Given the description of an element on the screen output the (x, y) to click on. 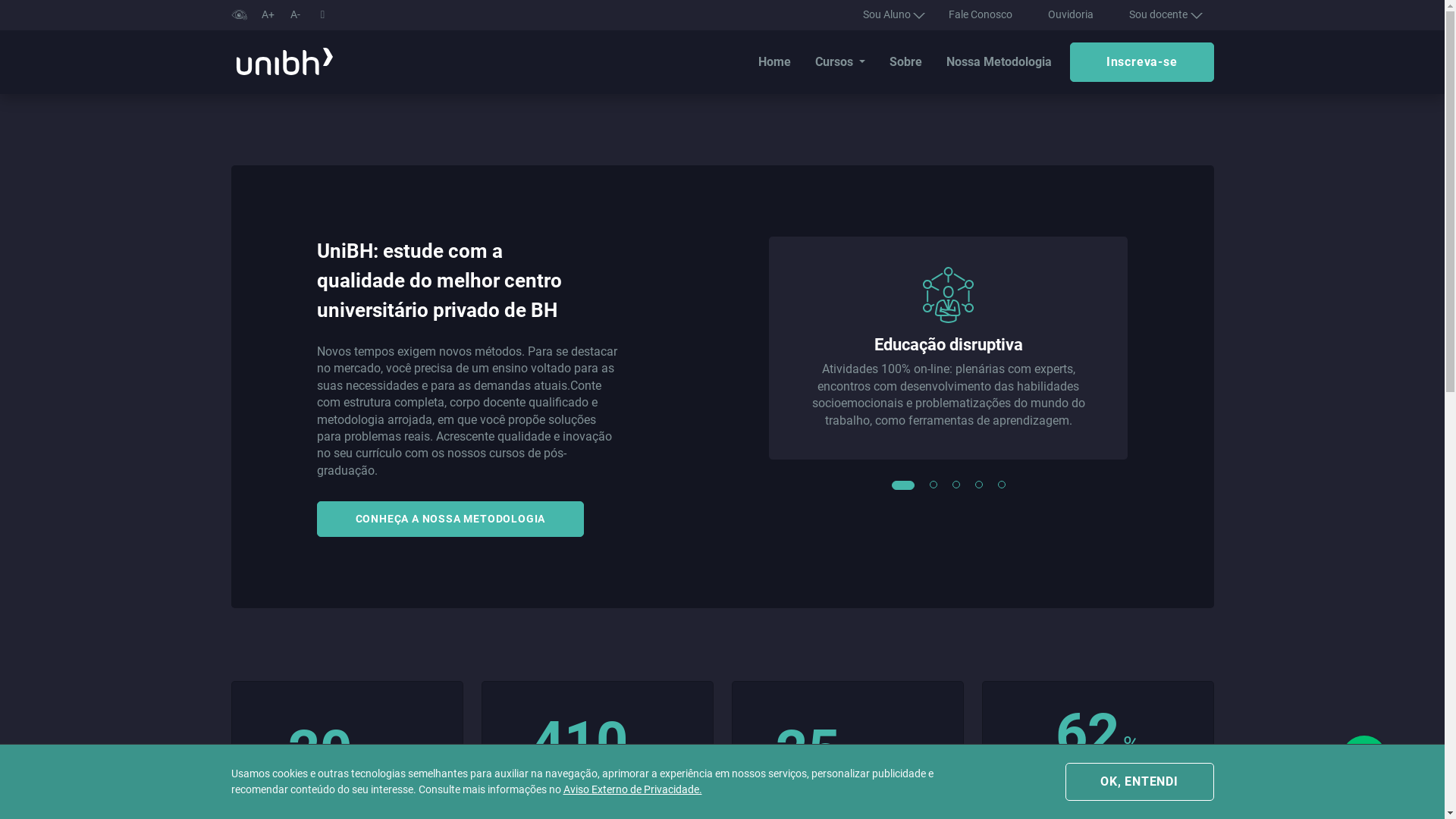
OK, ENTENDI Element type: text (1138, 781)
UniBH Element type: hover (284, 61)
Sobre Element type: text (905, 62)
Fale Conosco Element type: text (980, 14)
Cursos Element type: text (840, 62)
Nossa Metodologia Element type: text (998, 62)
4 Element type: text (979, 485)
Inscreva-se Element type: text (1141, 62)
3 Element type: text (956, 485)
Ouvidoria Element type: text (1070, 14)
5 Element type: text (1002, 485)
2 Element type: text (933, 485)
1 Element type: text (895, 485)
Sou Aluno Element type: text (887, 14)
Home Element type: text (774, 62)
Sou docente Element type: text (1159, 14)
Aviso Externo de Privacidade. Element type: text (631, 789)
